Given the description of an element on the screen output the (x, y) to click on. 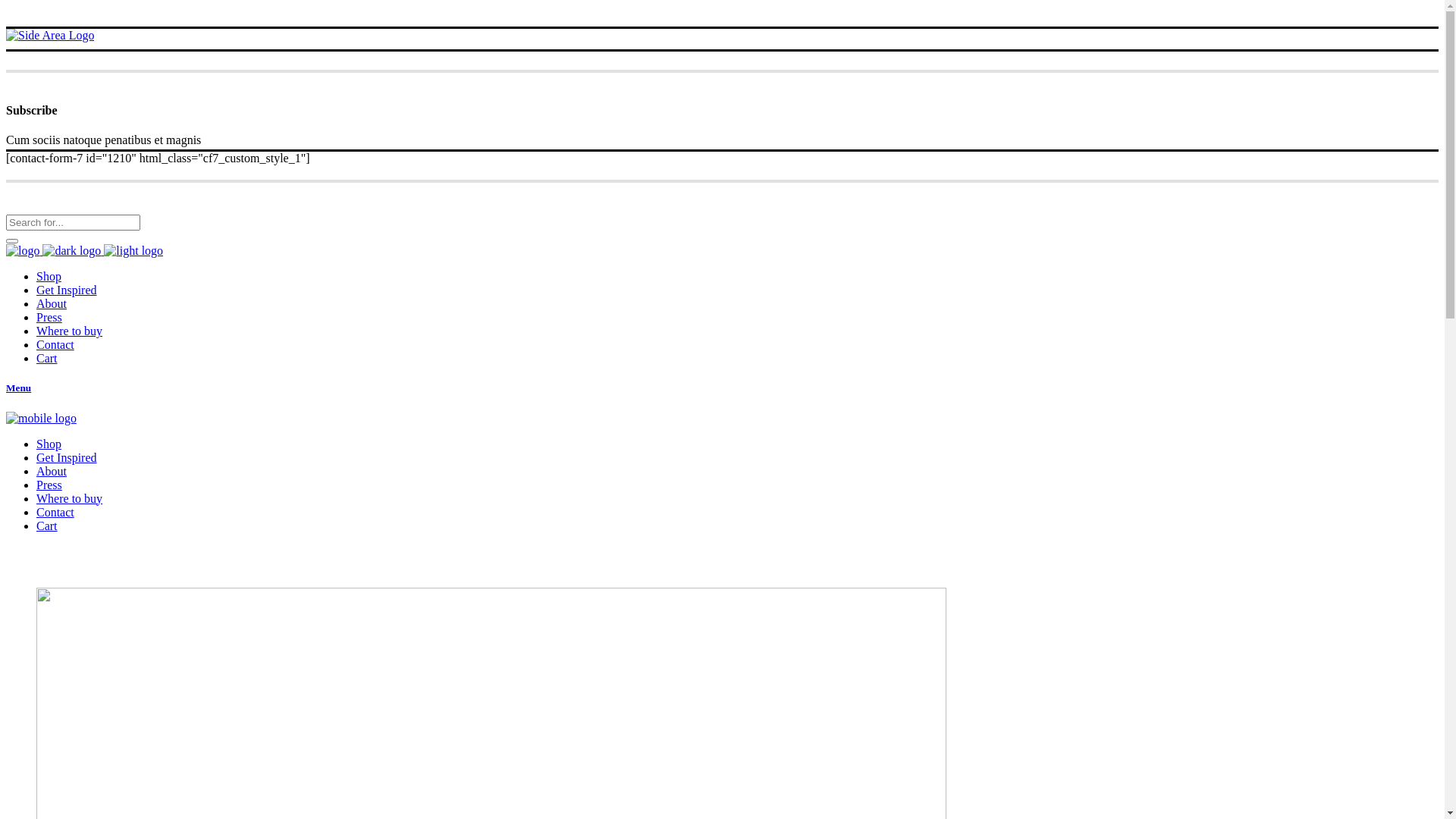
About Element type: text (51, 303)
Shop Element type: text (48, 443)
Contact Element type: text (55, 344)
Get Inspired Element type: text (66, 289)
Get Inspired Element type: text (66, 457)
Where to buy Element type: text (69, 498)
Cart Element type: text (46, 525)
Contact Element type: text (55, 511)
Press Element type: text (49, 316)
About Element type: text (51, 470)
Where to buy Element type: text (69, 330)
Cart Element type: text (46, 357)
Press Element type: text (49, 484)
Menu Element type: text (722, 388)
Shop Element type: text (48, 275)
